Given the description of an element on the screen output the (x, y) to click on. 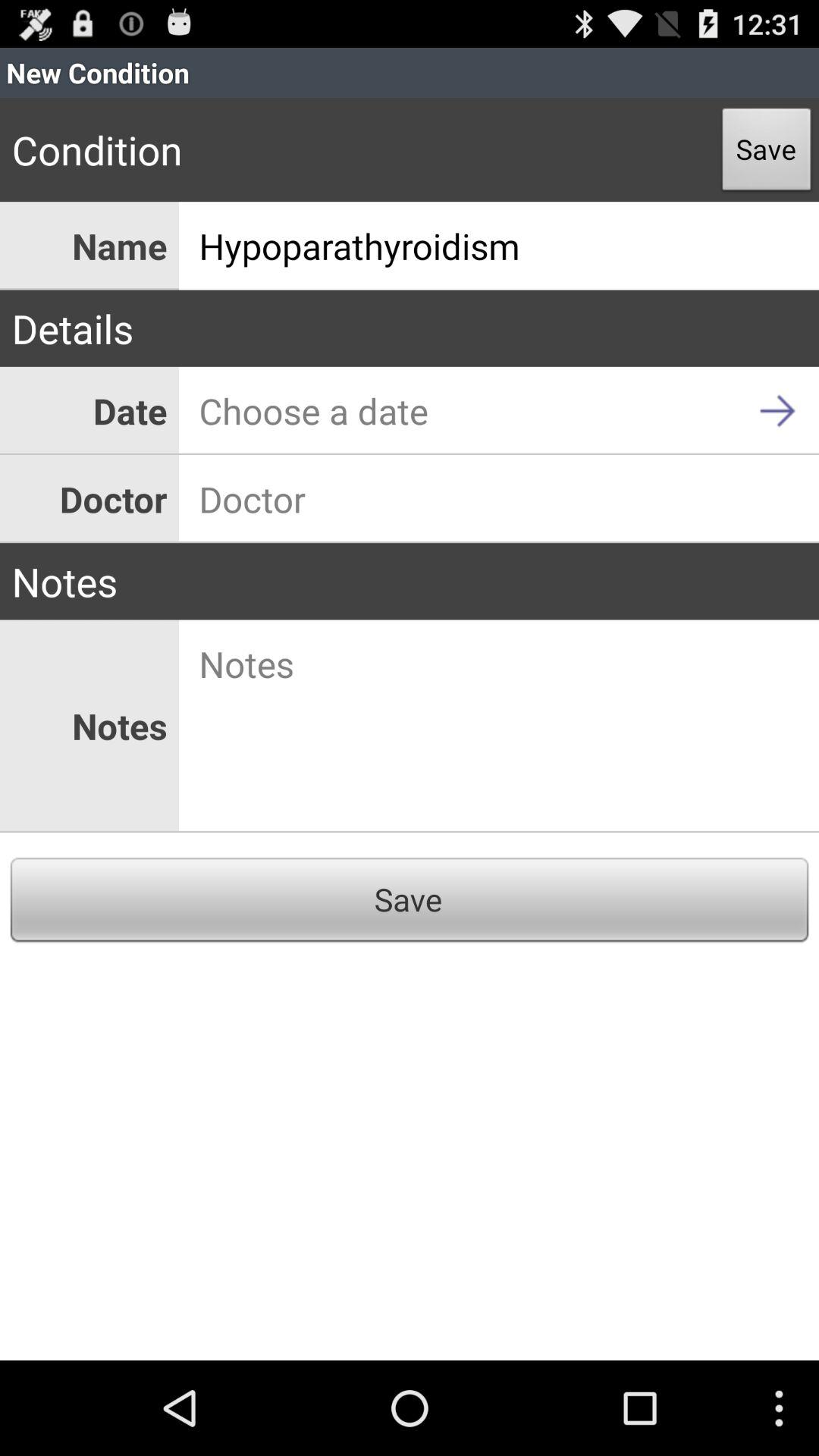
date options (499, 410)
